Given the description of an element on the screen output the (x, y) to click on. 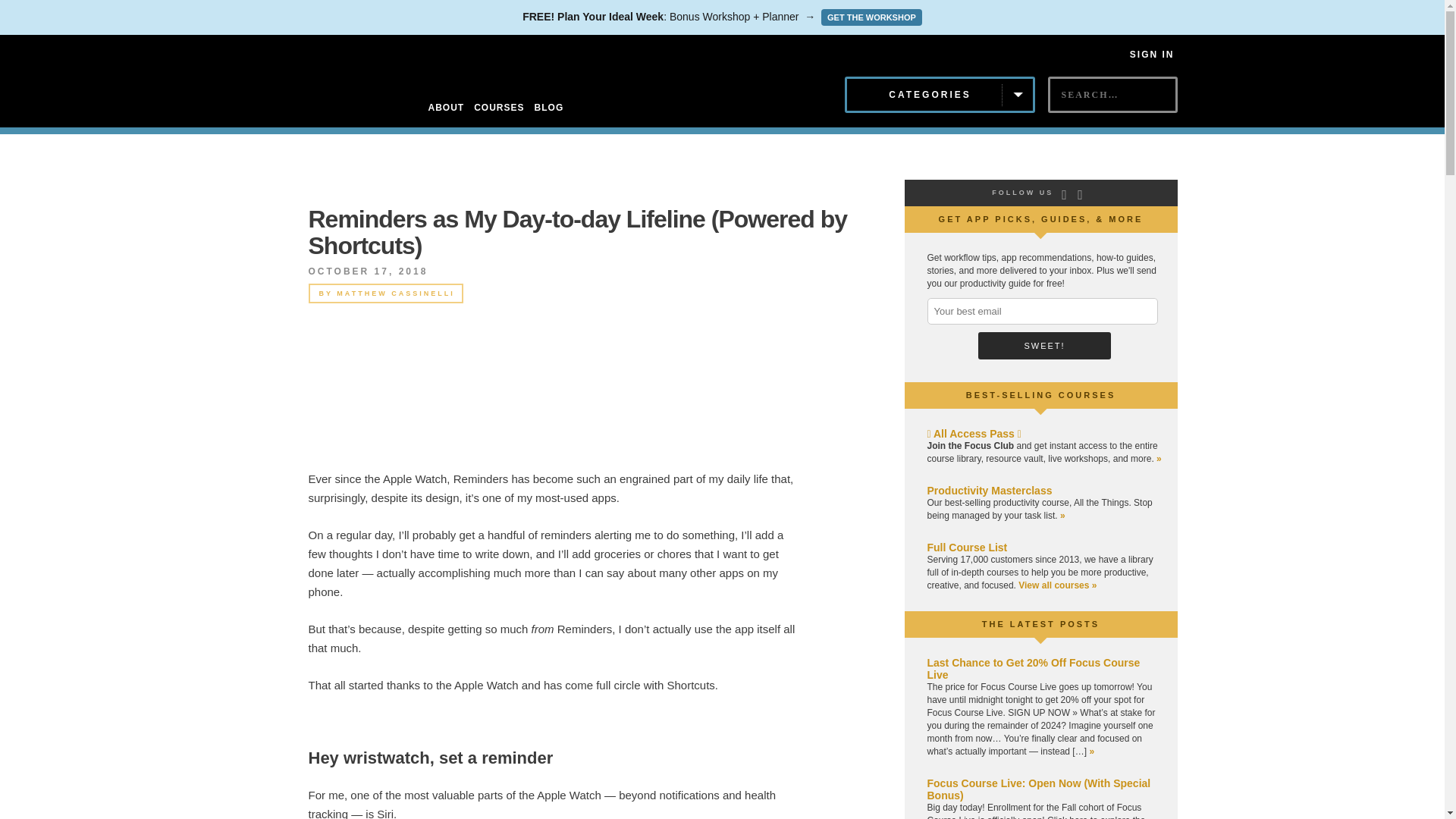
Sweet! (1044, 345)
BEST-SELLING COURSES (1041, 394)
GET THE WORKSHOP (871, 17)
Sweet! (1044, 345)
MATTHEW CASSINELLI (395, 293)
SIGN IN (1151, 53)
Go (1061, 120)
BLOG (549, 107)
ABOUT (446, 107)
CATEGORIES (939, 94)
